Given the description of an element on the screen output the (x, y) to click on. 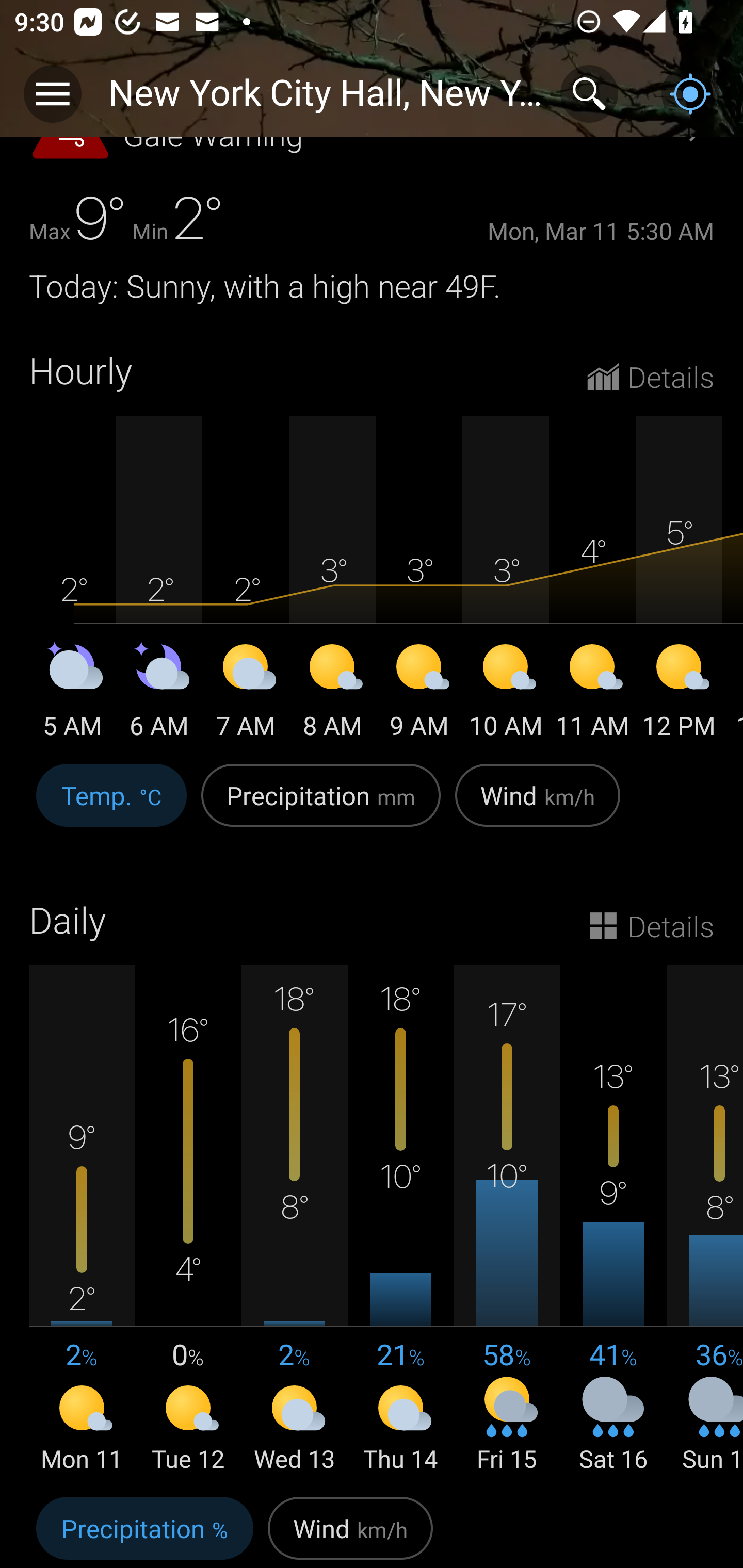
5 AM (71, 694)
6 AM (158, 694)
7 AM (245, 694)
8 AM (332, 694)
9 AM (418, 694)
10 AM (505, 694)
11 AM (592, 694)
12 PM (679, 694)
Temp. °C (110, 806)
Precipitation mm (320, 806)
Wind km/h (537, 806)
9° 2° 2 % Mon 11 (81, 1219)
16° 4° 0 % Tue 12 (188, 1219)
18° 8° 2 % Wed 13 (294, 1219)
18° 10° 21 % Thu 14 (400, 1219)
17° 10° 58 % Fri 15 (506, 1219)
13° 9° 41 % Sat 16 (613, 1219)
13° 8° 36 % Sun 17 (704, 1219)
Precipitation % (144, 1528)
Wind km/h (349, 1528)
